Given the description of an element on the screen output the (x, y) to click on. 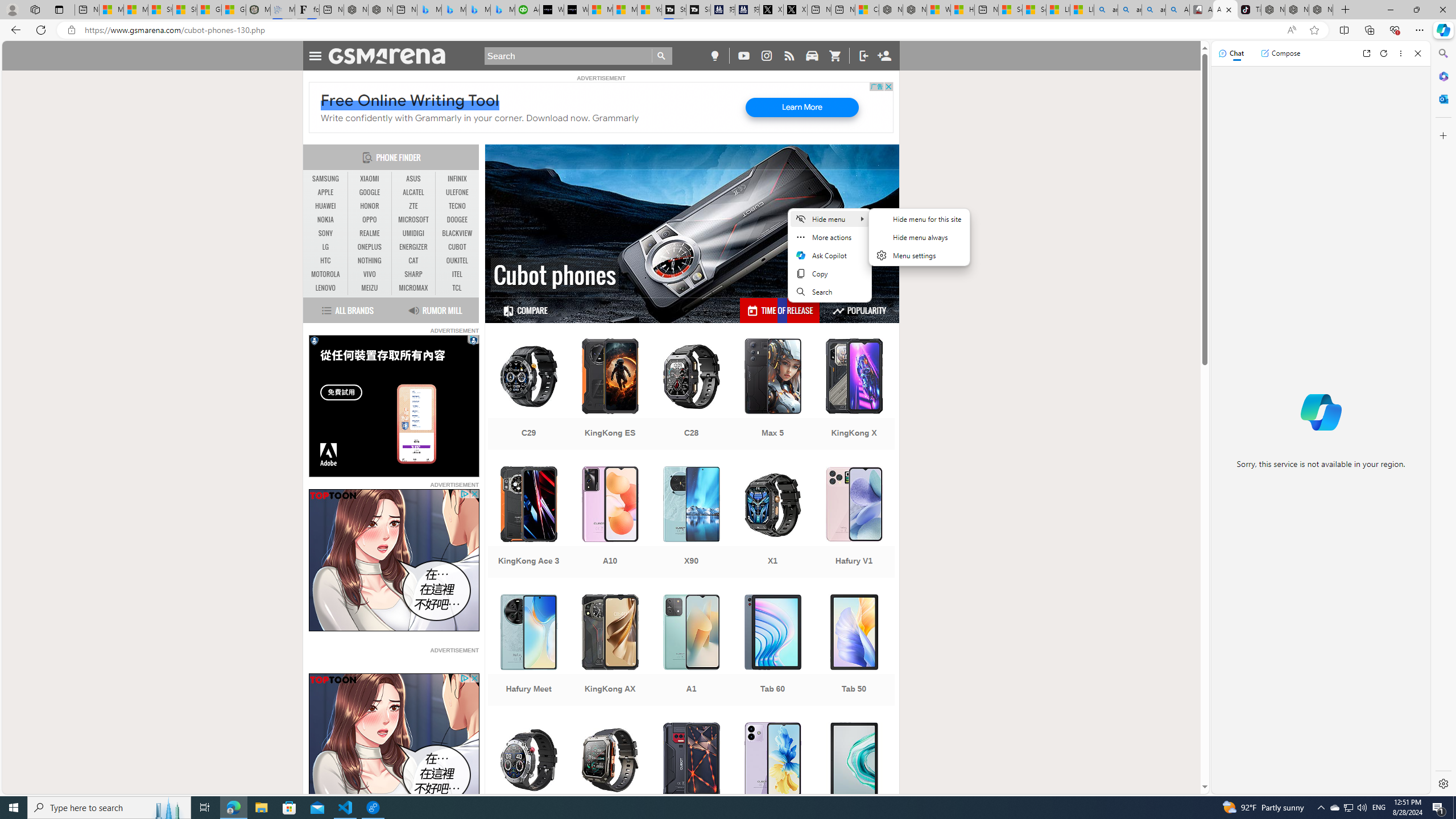
CUBOT (457, 246)
REALME (369, 233)
MOTOROLA (325, 273)
MEIZU (369, 287)
Mini menu on text selection (828, 255)
OUKITEL (457, 260)
SAMSUNG (325, 178)
Amazon Echo Robot - Search Images (1176, 9)
AutomationID: canvas (393, 405)
